Given the description of an element on the screen output the (x, y) to click on. 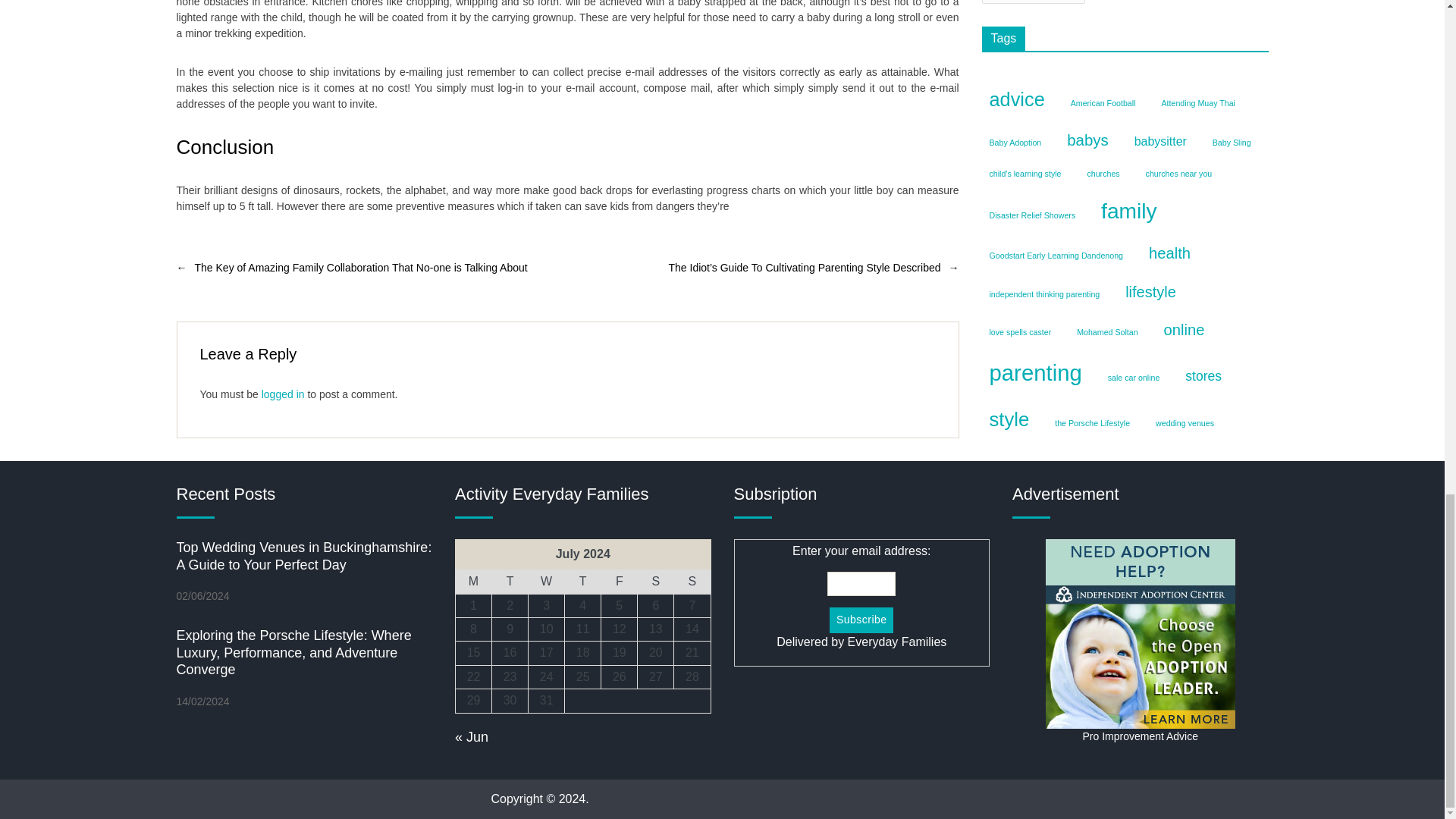
Wednesday (546, 581)
Sunday (692, 581)
Thursday (582, 581)
Subscribe (861, 620)
Saturday (655, 581)
Friday (619, 581)
Monday (473, 581)
logged in (283, 394)
Tuesday (510, 581)
